Given the description of an element on the screen output the (x, y) to click on. 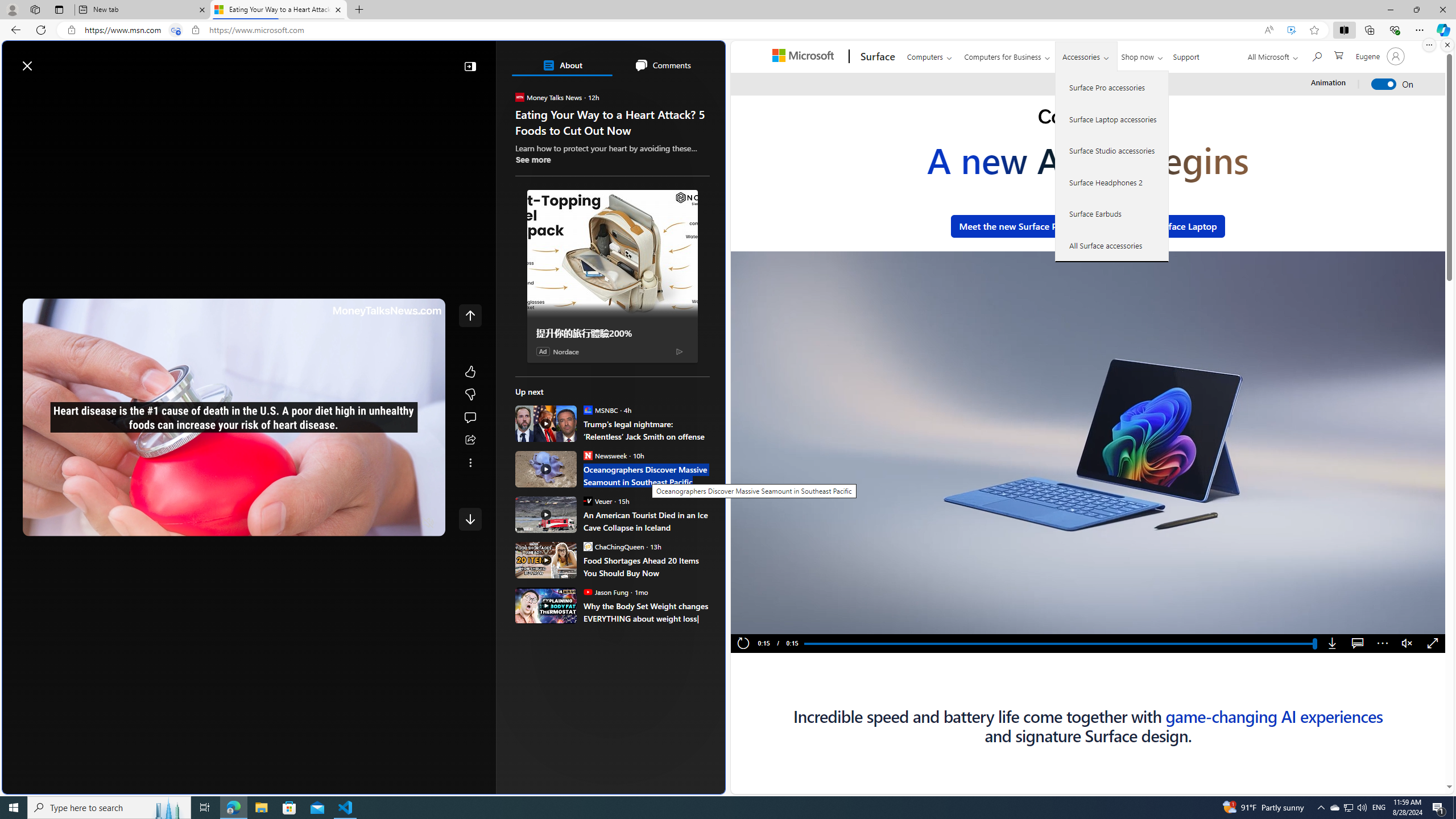
Account manager for Eugene (1378, 55)
Support (1185, 54)
Share this story (469, 440)
Copilot+ PC. (1088, 117)
Surface Pro accessories (1112, 87)
